Given the description of an element on the screen output the (x, y) to click on. 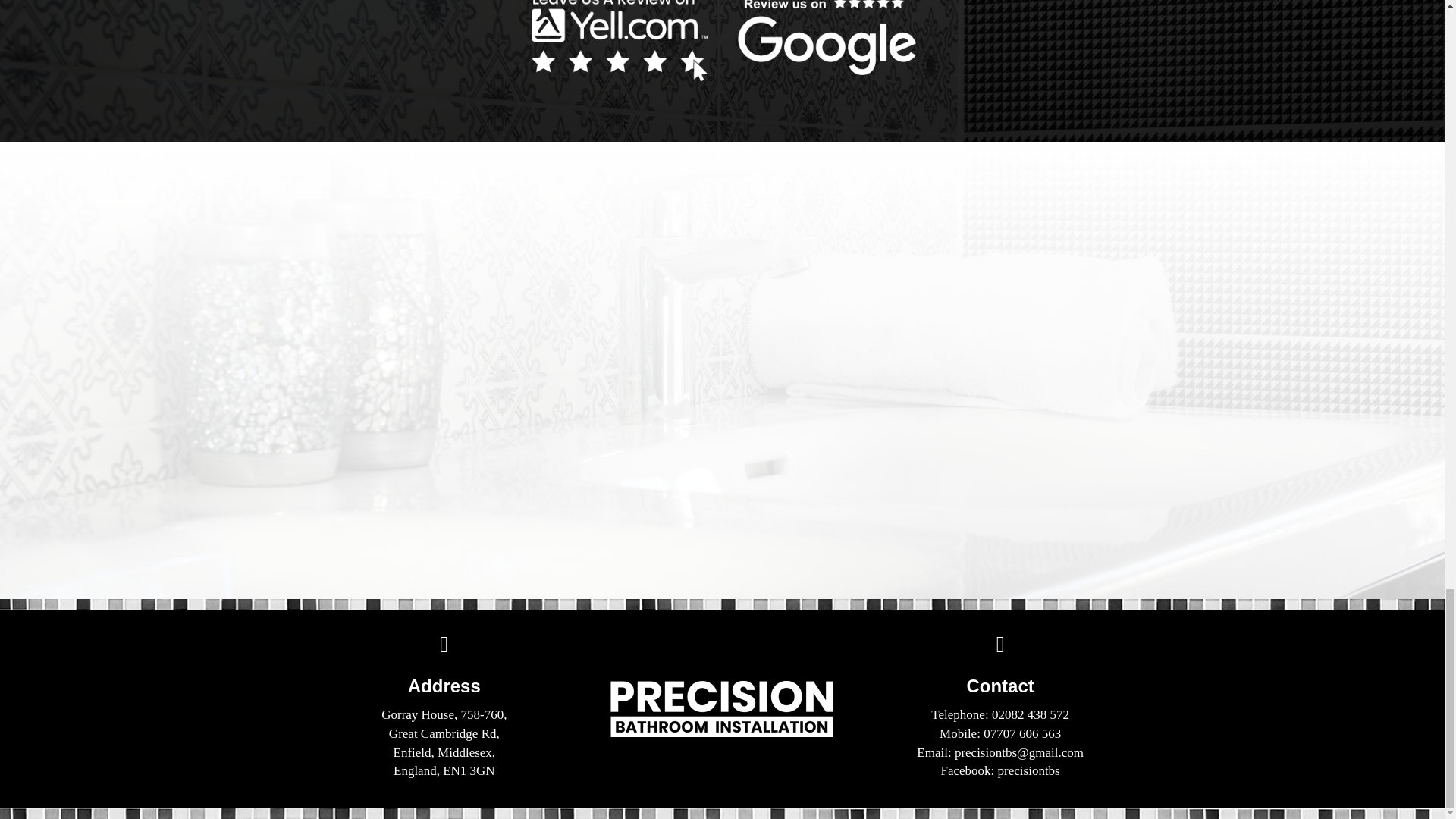
logoWhite (721, 708)
LeaveReview-yell-white (618, 40)
google-reviews white (825, 37)
